Given the description of an element on the screen output the (x, y) to click on. 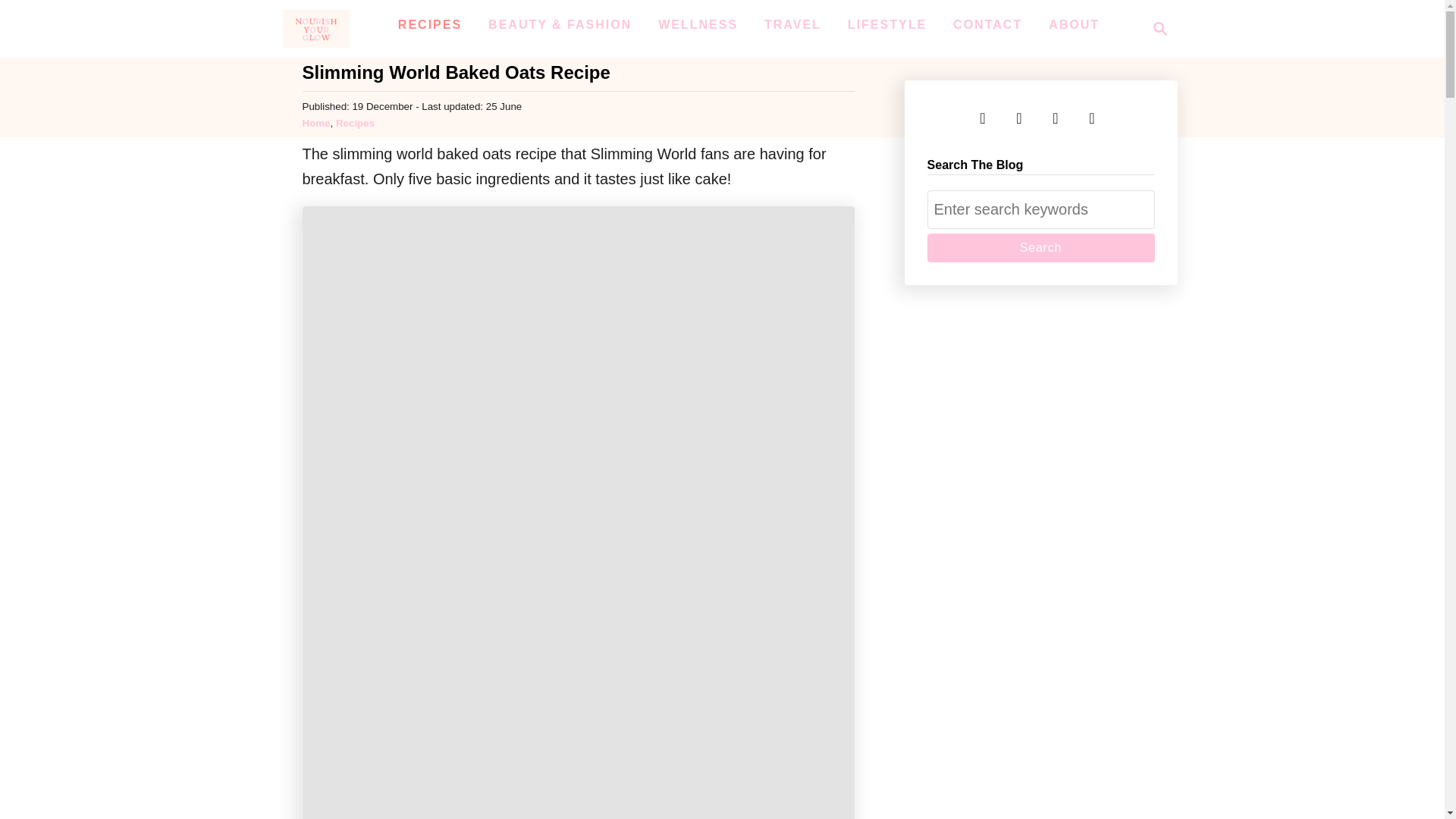
WELLNESS (697, 24)
Search (1040, 247)
CONTACT (1155, 28)
RECIPES (986, 24)
TRAVEL (429, 24)
Pinterest (792, 24)
Search (1055, 118)
LIFESTYLE (1040, 247)
Instagram (887, 24)
YouTube (1018, 118)
Search (1091, 118)
Home (1040, 247)
Facebook (315, 122)
Nourish Your Glow (982, 118)
